Given the description of an element on the screen output the (x, y) to click on. 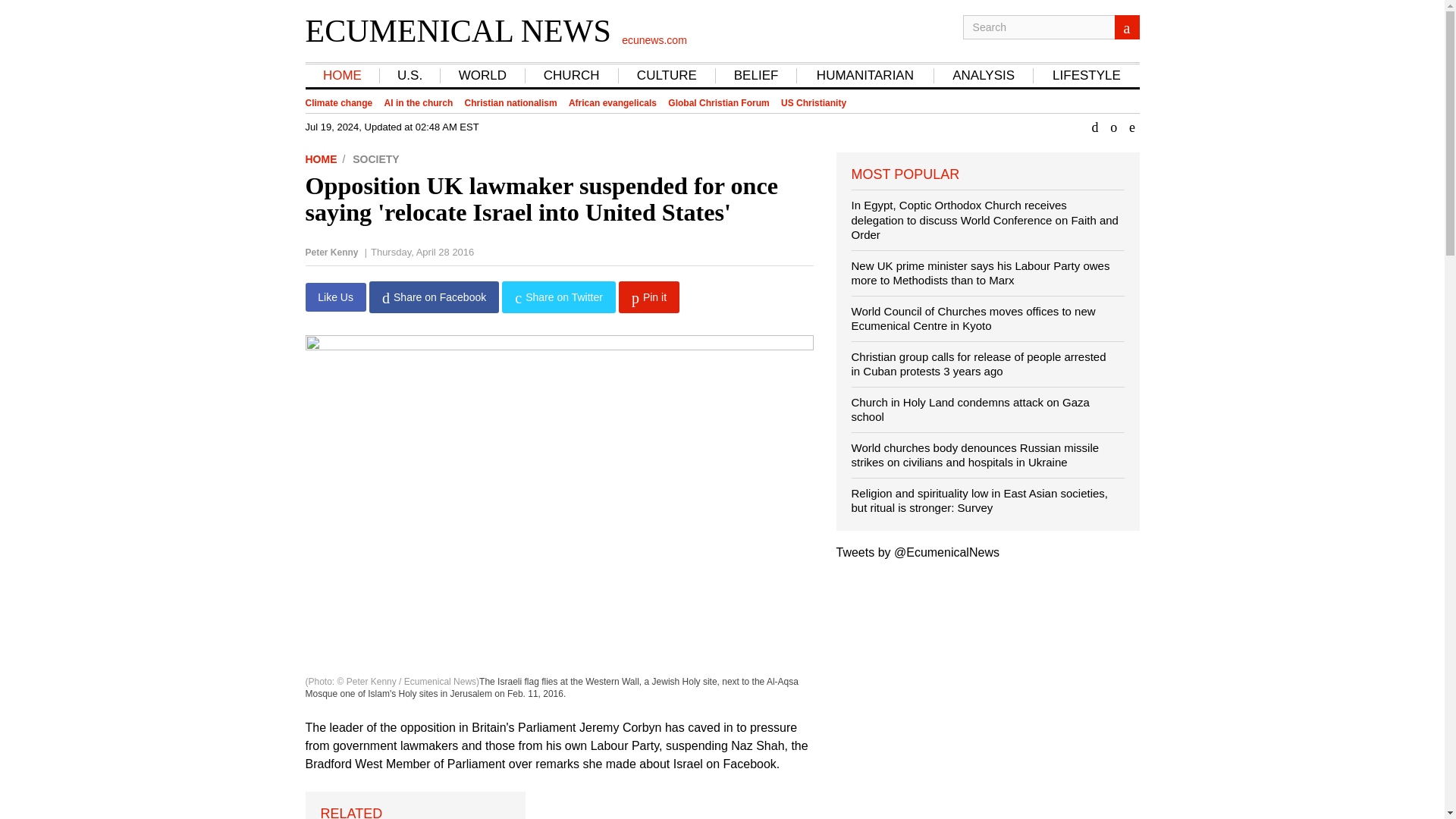
BELIEF (756, 75)
Climate change (338, 103)
Share on Twitter (558, 296)
HOME (326, 159)
HUMANITARIAN (864, 75)
CHURCH (571, 75)
ecunews.com (654, 39)
Pin it (648, 296)
HOME (342, 75)
ECUMENICAL NEWS (457, 30)
Twitter Follow Button (566, 798)
U.S. (410, 75)
WORLD (481, 75)
ANALYSIS (983, 75)
Peter Kenny (331, 252)
